Given the description of an element on the screen output the (x, y) to click on. 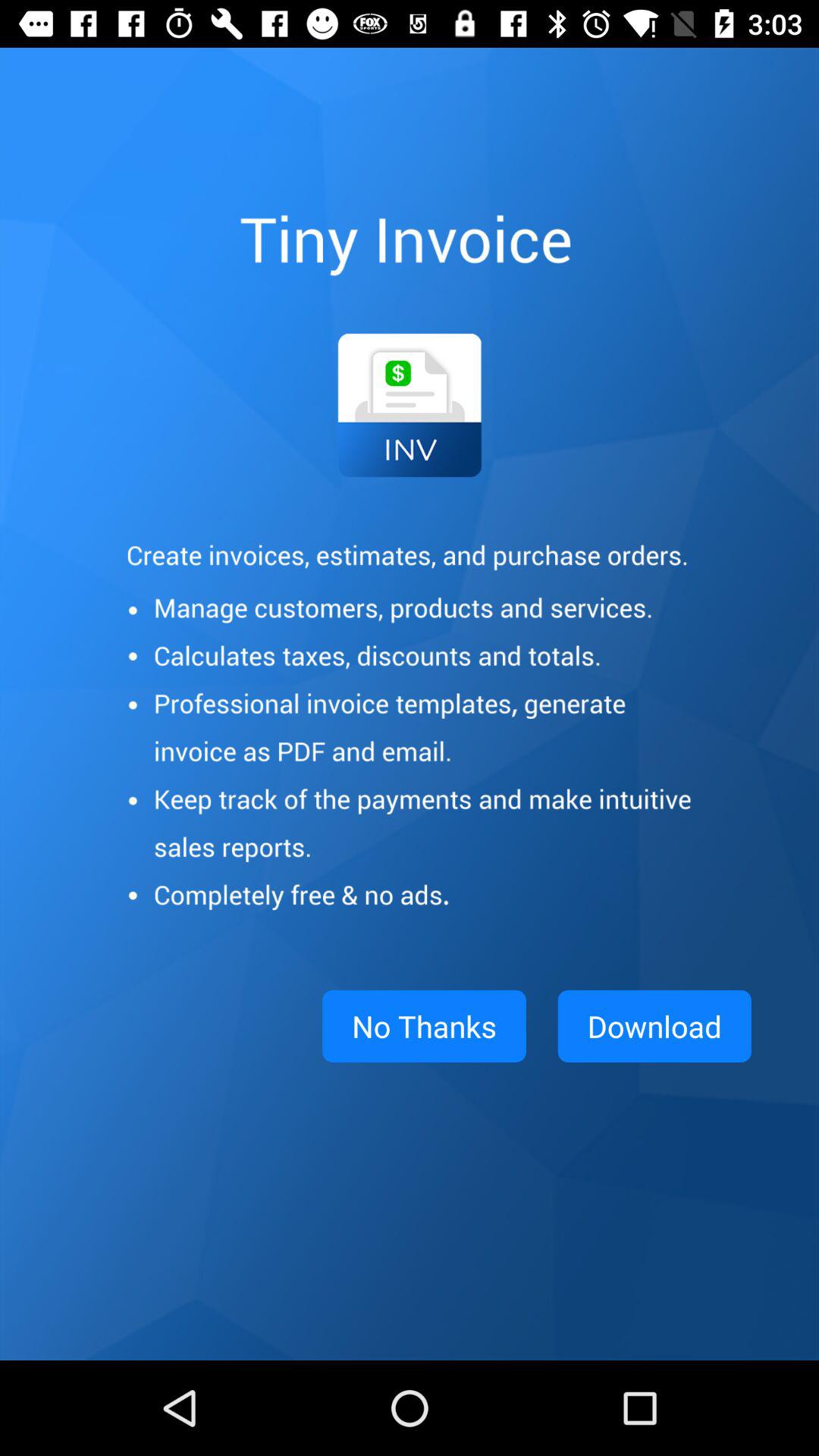
launch app to the left of download item (424, 1026)
